Given the description of an element on the screen output the (x, y) to click on. 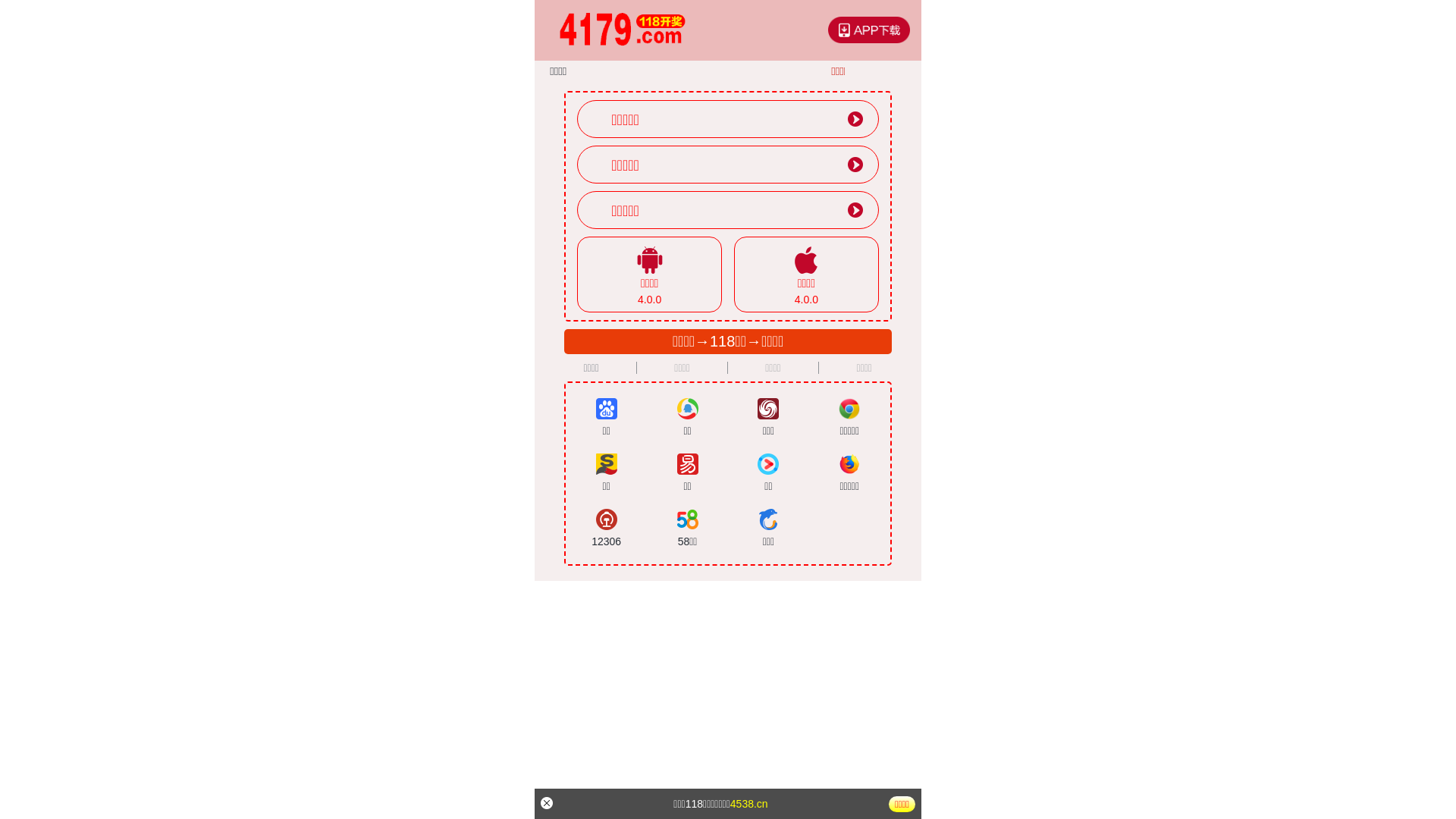
12306 Element type: text (605, 528)
